Given the description of an element on the screen output the (x, y) to click on. 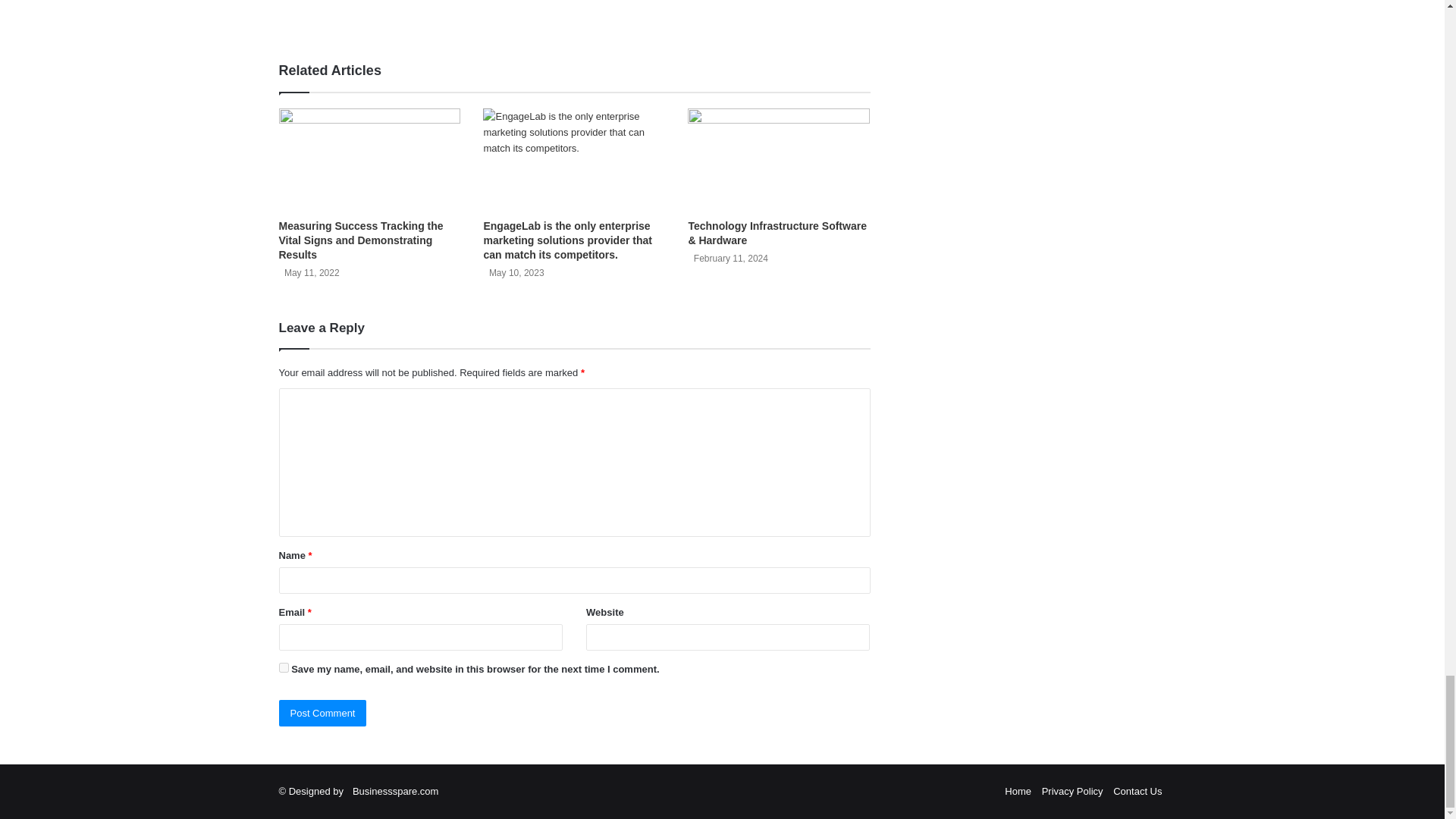
Website (381, 13)
yes (283, 667)
Post Comment (322, 713)
